Given the description of an element on the screen output the (x, y) to click on. 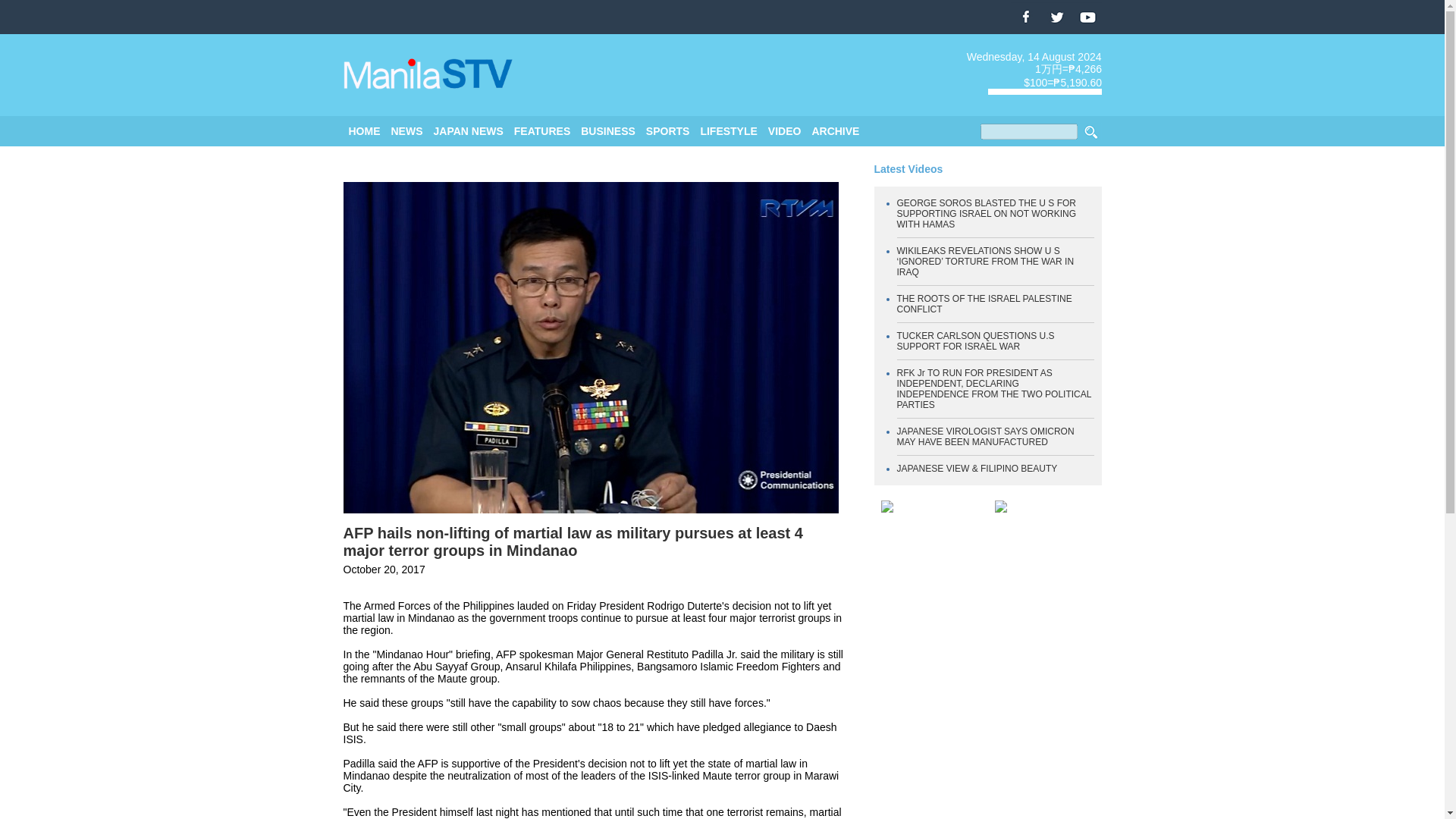
ARCHIVE (834, 131)
VIDEO (785, 131)
HOME (364, 131)
THE ROOTS OF THE ISRAEL PALESTINE CONFLICT (983, 303)
JAPANESE VIROLOGIST SAYS OMICRON MAY HAVE BEEN MANUFACTURED (985, 436)
SPORTS (668, 131)
FEATURES (541, 131)
NEWS (407, 131)
